Given the description of an element on the screen output the (x, y) to click on. 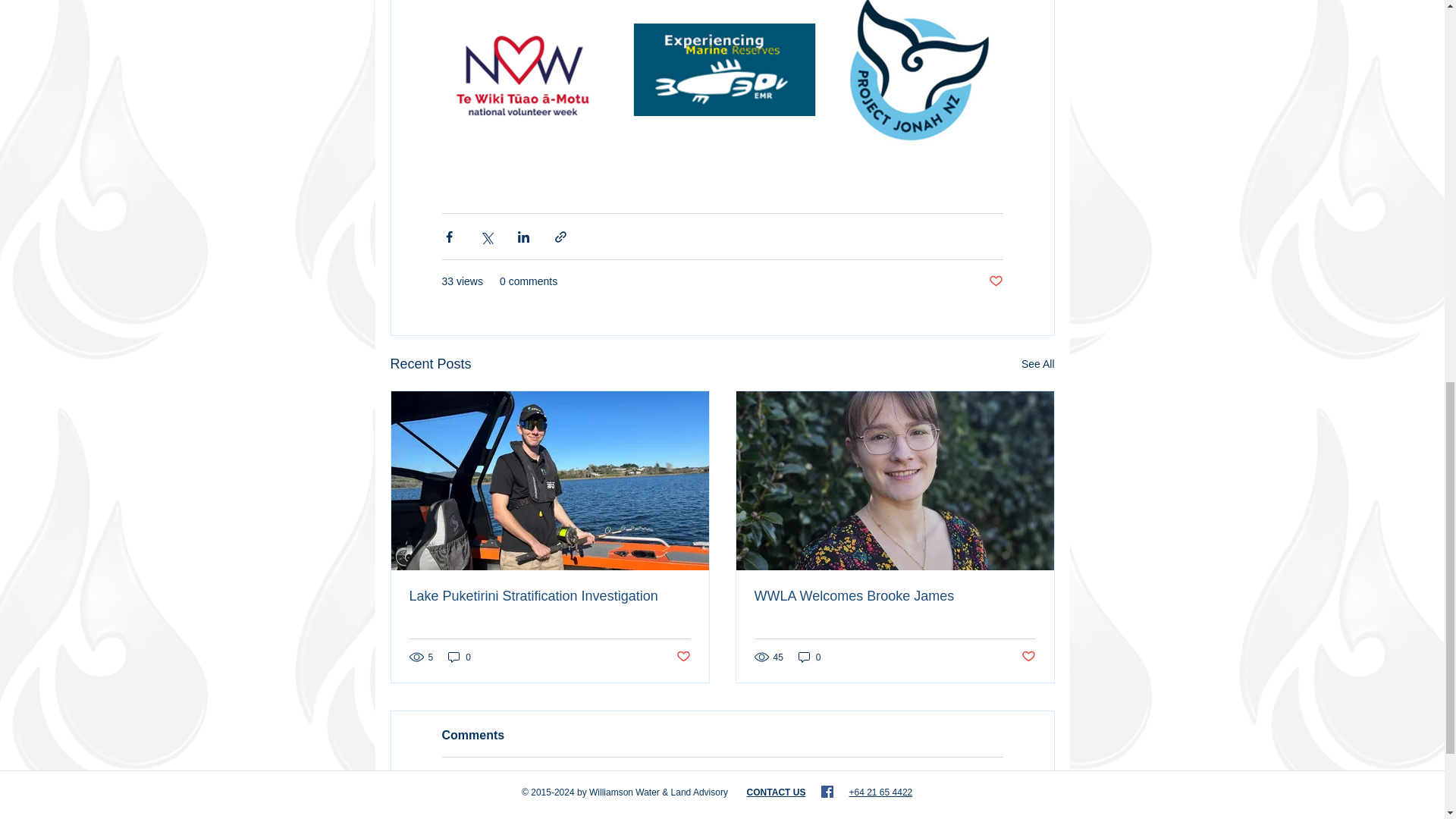
Post not marked as liked (995, 281)
0 (458, 657)
Post not marked as liked (683, 657)
Write a comment... (722, 802)
Lake Puketirini Stratification Investigation (549, 596)
Post not marked as liked (1027, 657)
See All (1038, 363)
0 (809, 657)
WWLA Welcomes Brooke James (894, 596)
